Given the description of an element on the screen output the (x, y) to click on. 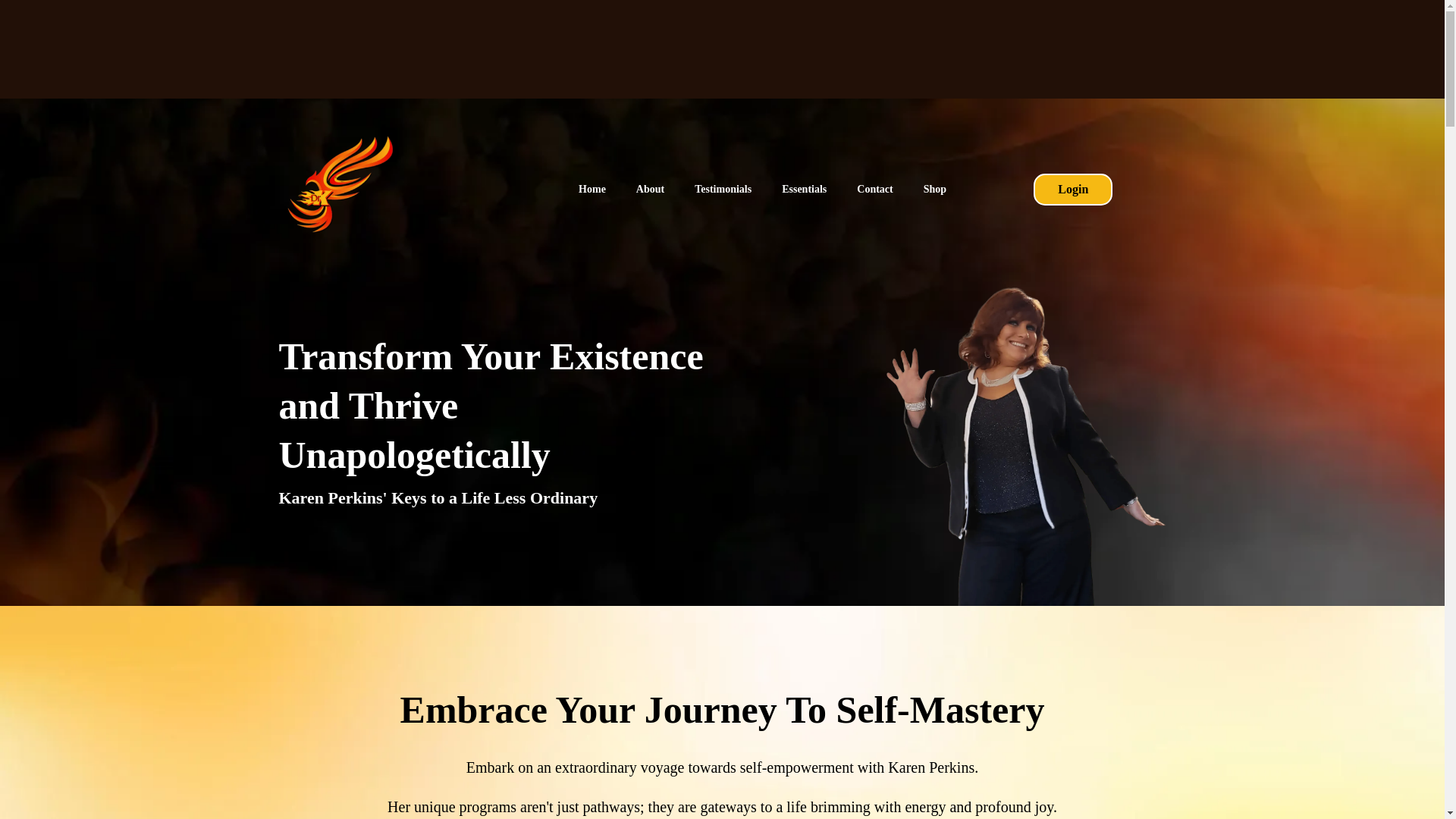
Testimonials (723, 189)
Login (1072, 189)
Essentials (804, 189)
Contact (874, 189)
Shop (934, 189)
Home (592, 189)
About (650, 189)
